Given the description of an element on the screen output the (x, y) to click on. 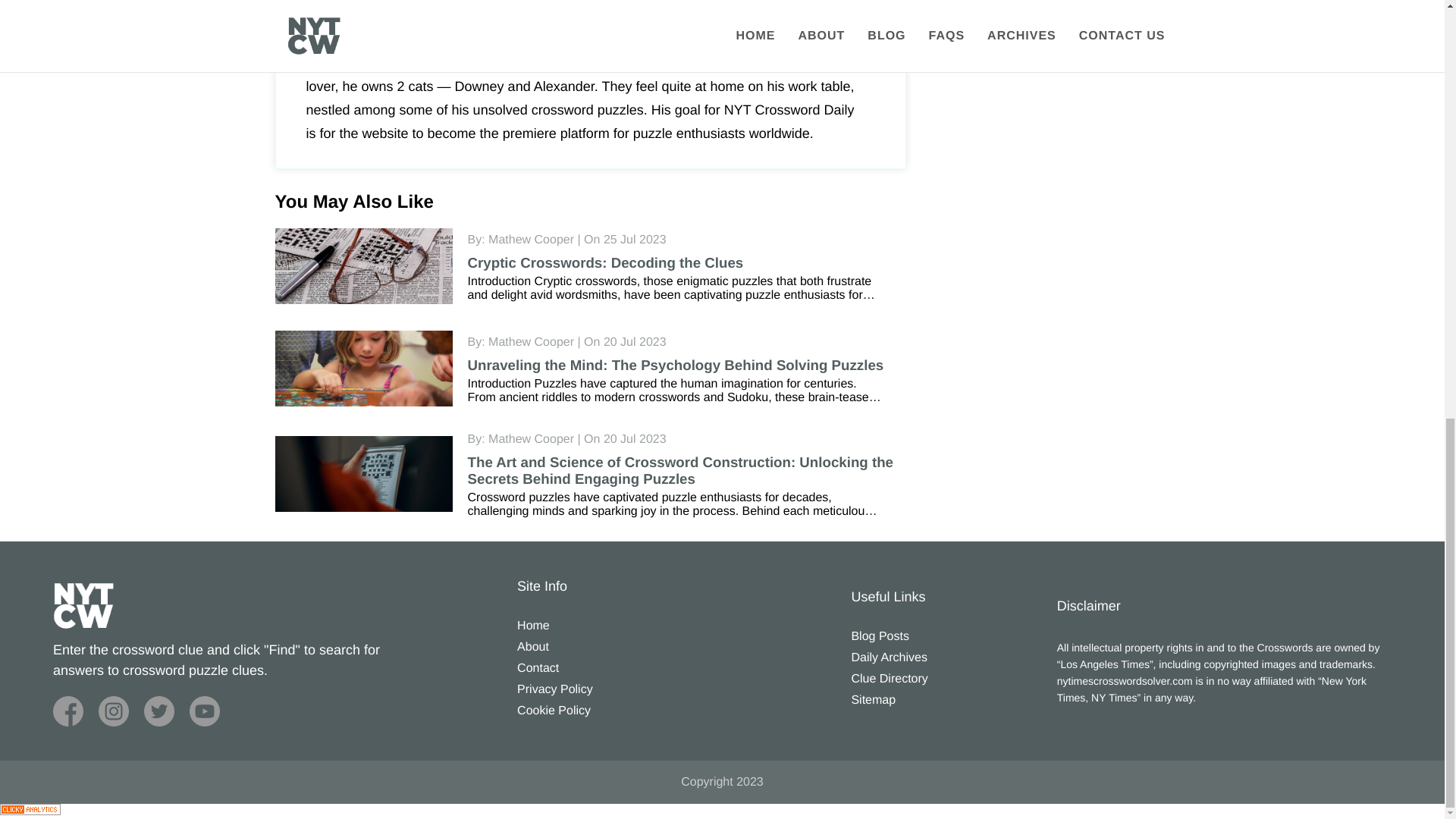
Privacy-friendly Web Analytics (30, 811)
